Given the description of an element on the screen output the (x, y) to click on. 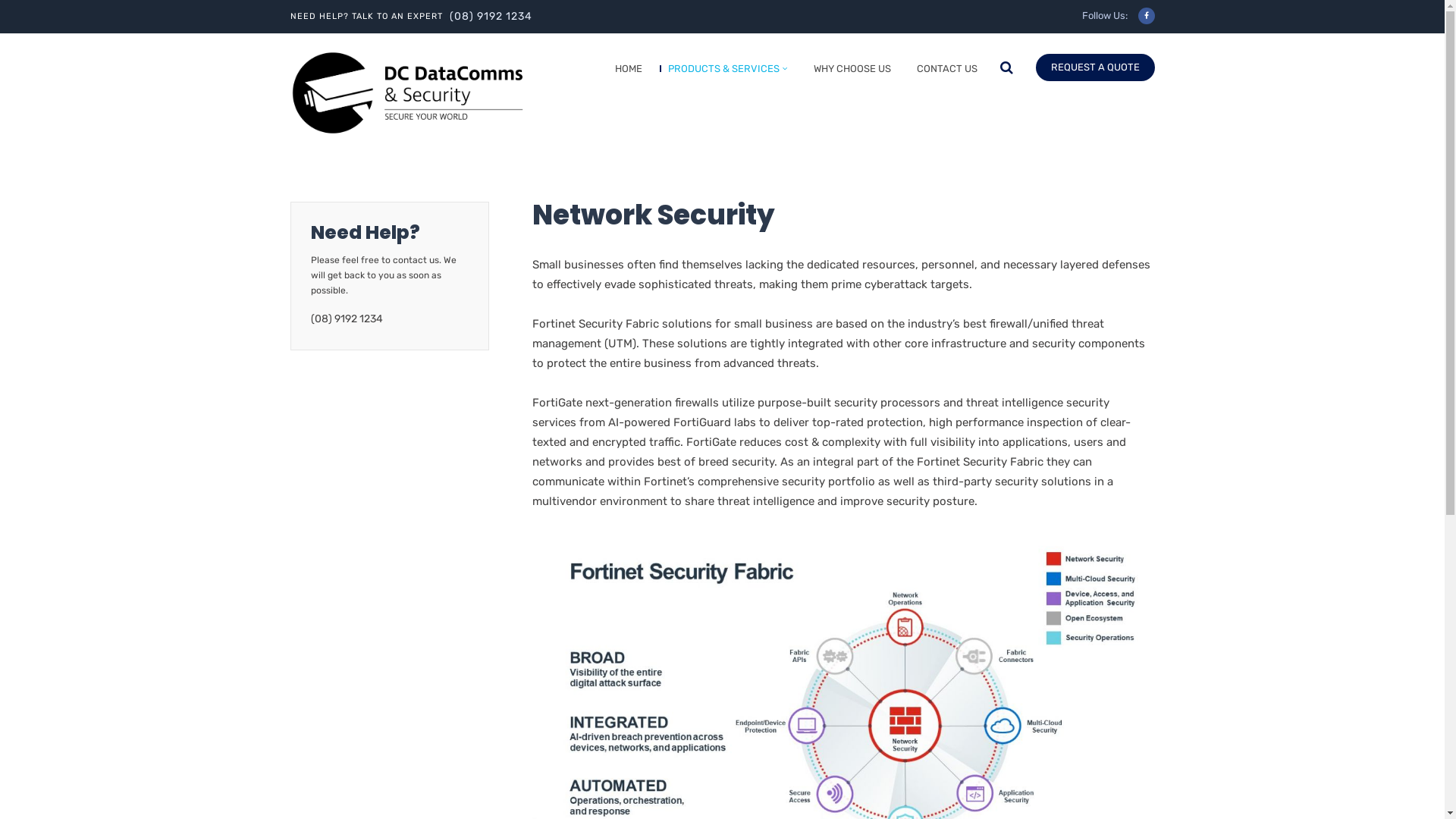
WHY CHOOSE US Element type: text (848, 72)
REQUEST A QUOTE Element type: text (1094, 67)
HOME Element type: text (624, 72)
(08) 9192 1234 Element type: text (489, 16)
CONTACT US Element type: text (942, 72)
PRODUCTS & SERVICES Element type: text (723, 72)
